Given the description of an element on the screen output the (x, y) to click on. 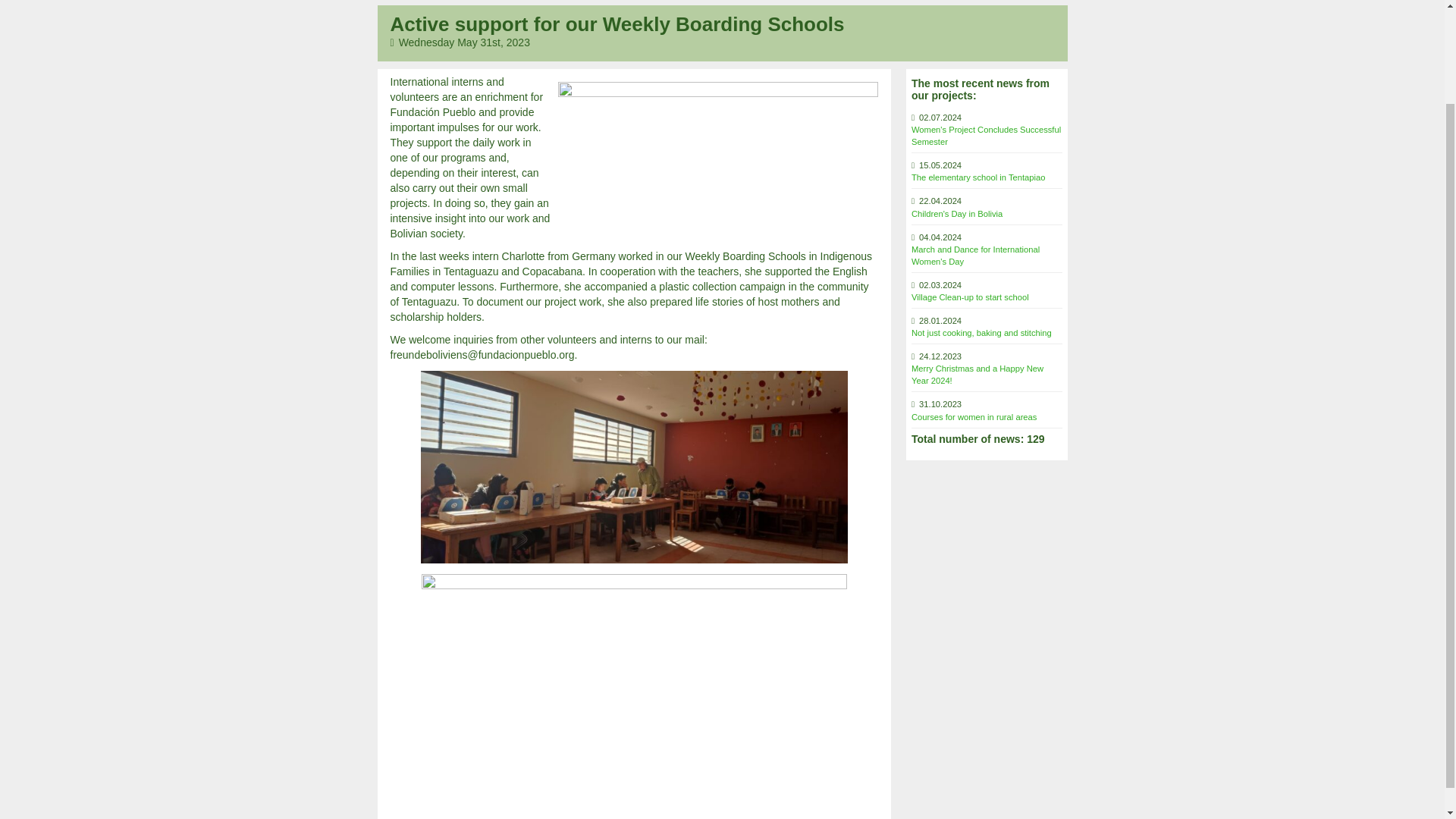
Not just cooking, baking and stitching (981, 332)
Women's Project Concludes Successful Semester (986, 135)
Children's Day in Bolivia (957, 213)
Village Clean-up to start school (970, 297)
March and Dance for International Women's Day (975, 255)
Not just cooking, baking and stitching (981, 332)
Merry Christmas and a Happy New Year 2024! (977, 373)
March and Dance for International Women's Day (975, 255)
Children's Day in Bolivia (957, 213)
The elementary school in Tentapiao (978, 176)
Women's Project Concludes Successful Semester (986, 135)
Courses for women in rural areas (973, 416)
The elementary school in Tentapiao (978, 176)
Village Clean-up to start school (970, 297)
